Given the description of an element on the screen output the (x, y) to click on. 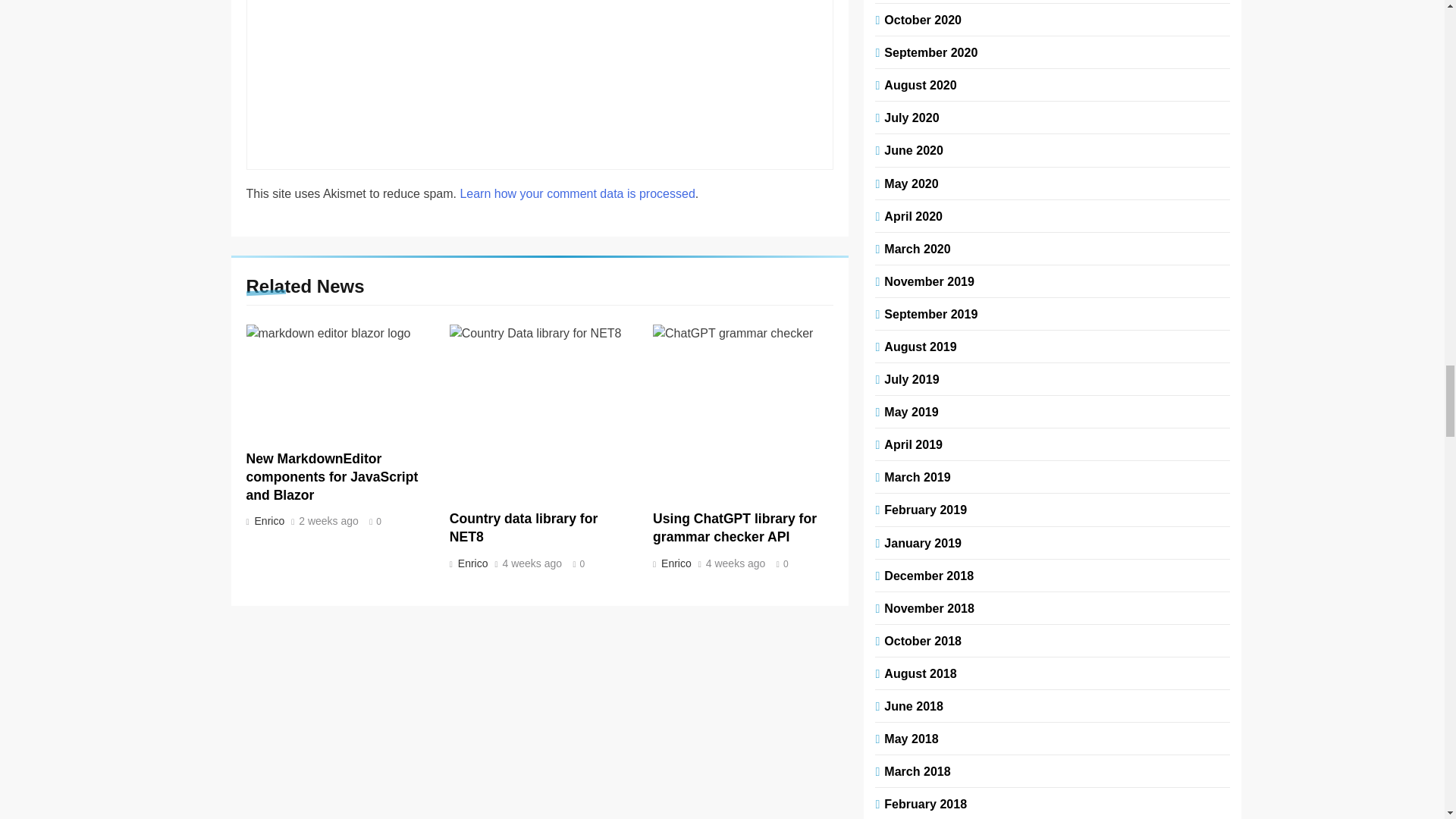
Comment Form (540, 76)
